Given the description of an element on the screen output the (x, y) to click on. 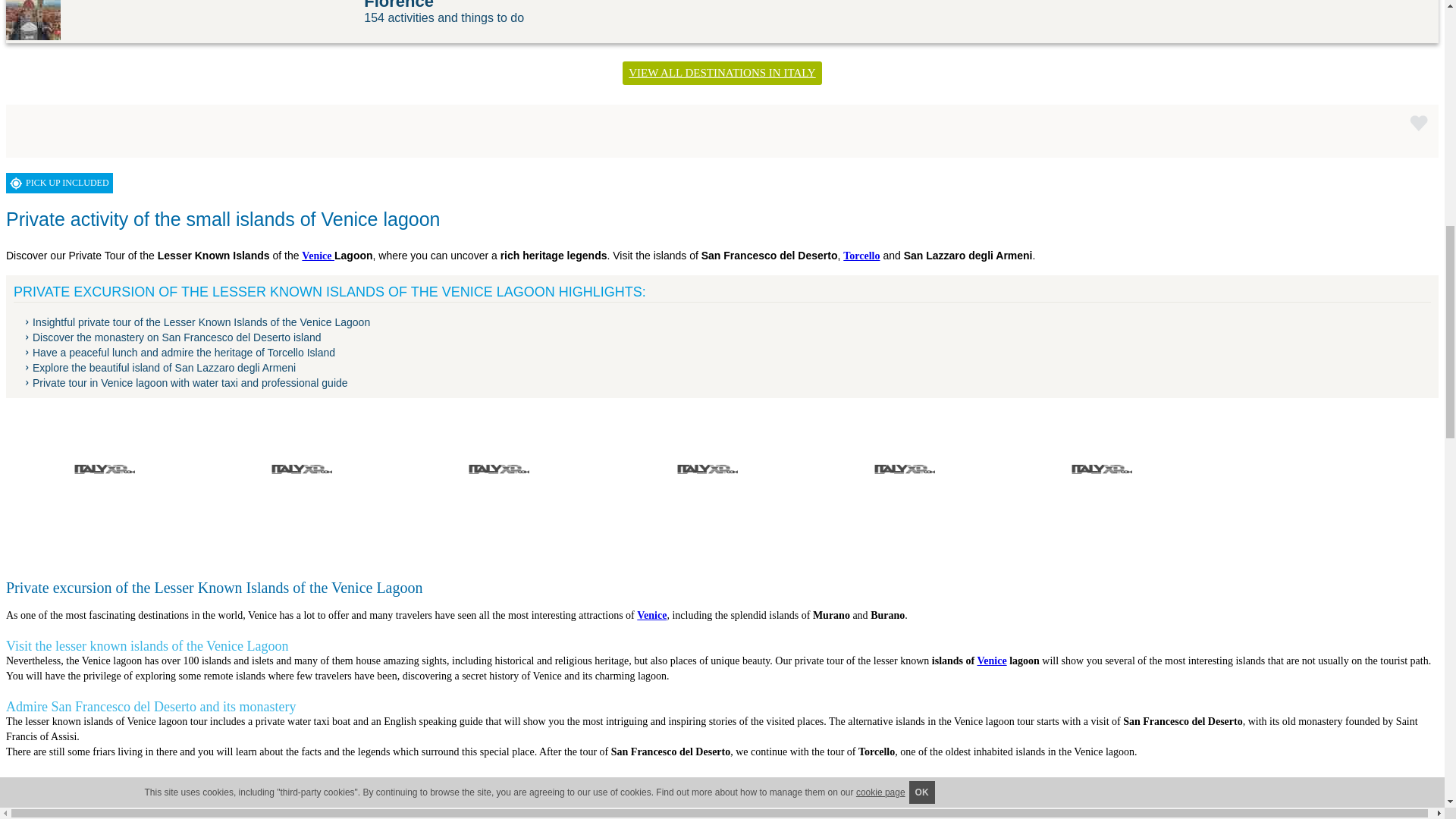
VIEW ALL DESTINATIONS IN ITALY (722, 73)
Torcello (861, 255)
Venice (317, 255)
Church of Torcello  (904, 473)
Devil Bridge (498, 473)
Torcello (25, 797)
View of Torcello's Island (104, 473)
add to wishlist (1418, 123)
Amazing Lagoon of Venice (301, 473)
Venice (991, 660)
Venice (651, 614)
Tour of Torcello's Island  (707, 473)
Portico of Torcello's Church (1101, 473)
Best tours and activities for Florence (33, 20)
add to wishlist (1418, 123)
